Given the description of an element on the screen output the (x, y) to click on. 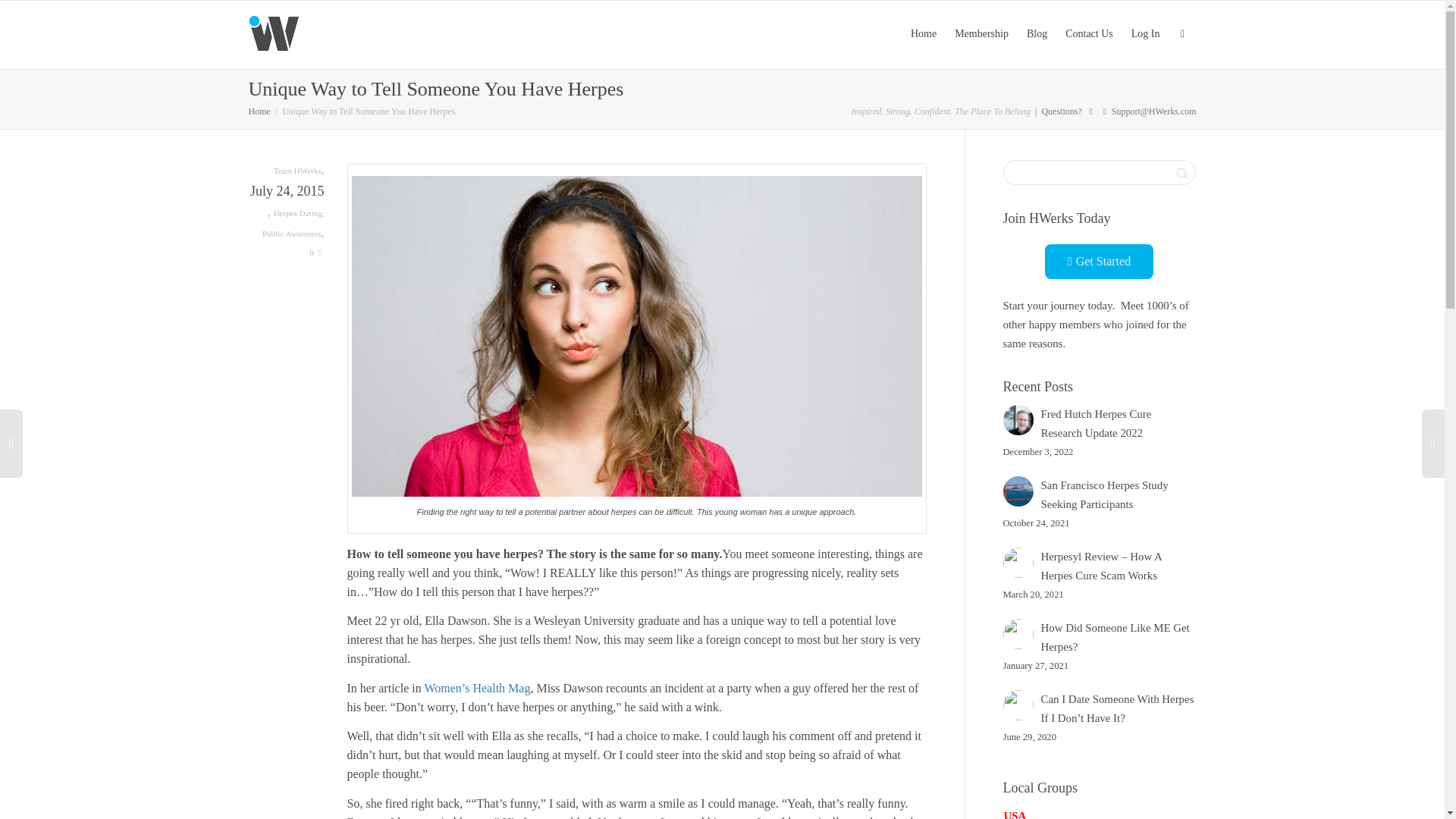
Home (259, 111)
July 24, 2015 (286, 192)
Herpes Dating (297, 212)
0 (315, 252)
Search (1181, 172)
View all POSTS by Team HWerks (297, 170)
Team HWerks (297, 170)
Public Awareness (291, 233)
Search (1181, 172)
HWerks (259, 111)
